Given the description of an element on the screen output the (x, y) to click on. 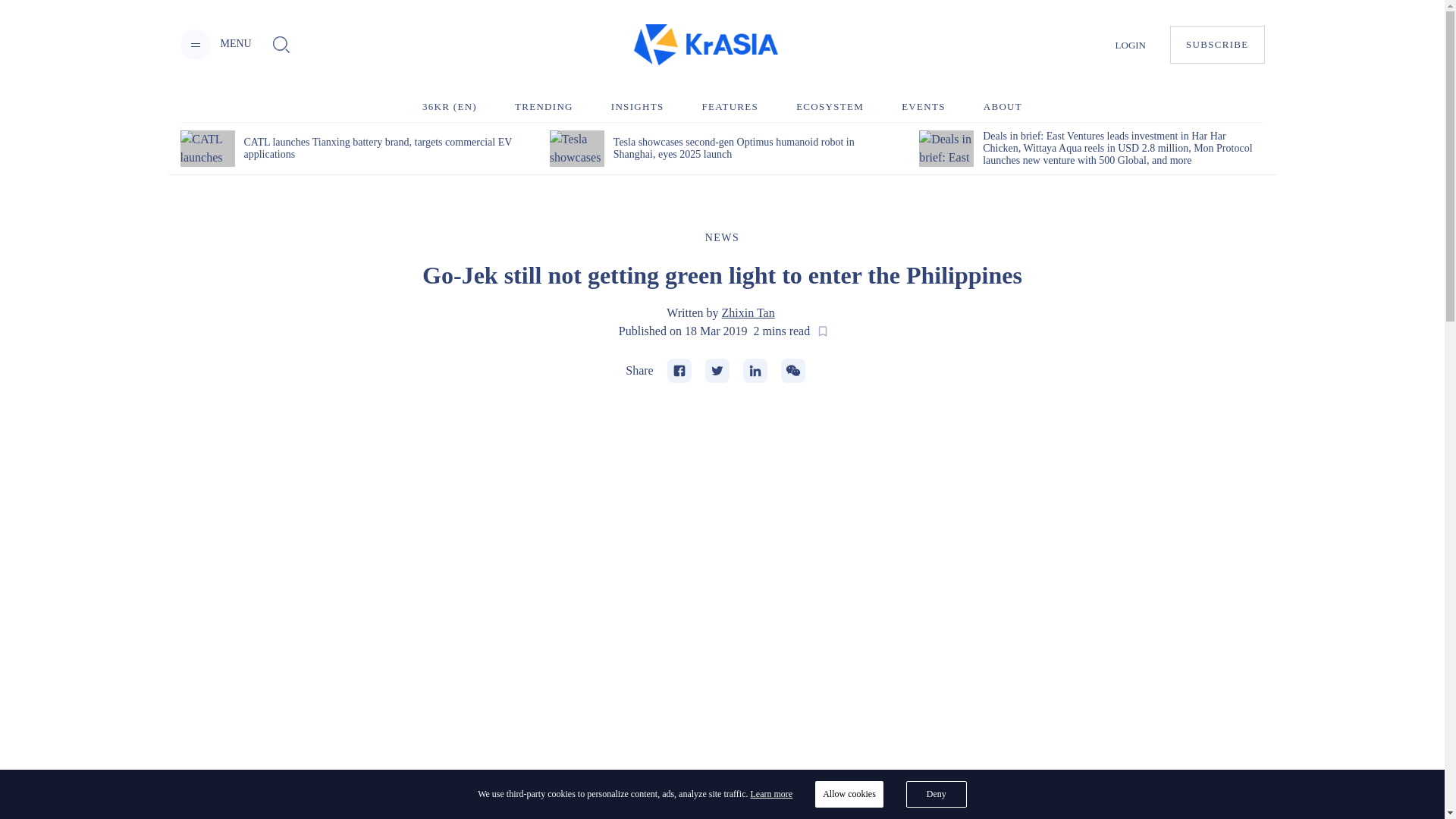
KrASIA Homepage (705, 45)
ECOSYSTEM (829, 106)
NEWS (721, 237)
Zhixin Tan (748, 312)
INSIGHTS (637, 106)
SUBSCRIBE (1217, 44)
FEATURES (729, 106)
EVENTS (922, 106)
ABOUT (1003, 106)
LOGIN (1130, 44)
TRENDING (544, 106)
